Given the description of an element on the screen output the (x, y) to click on. 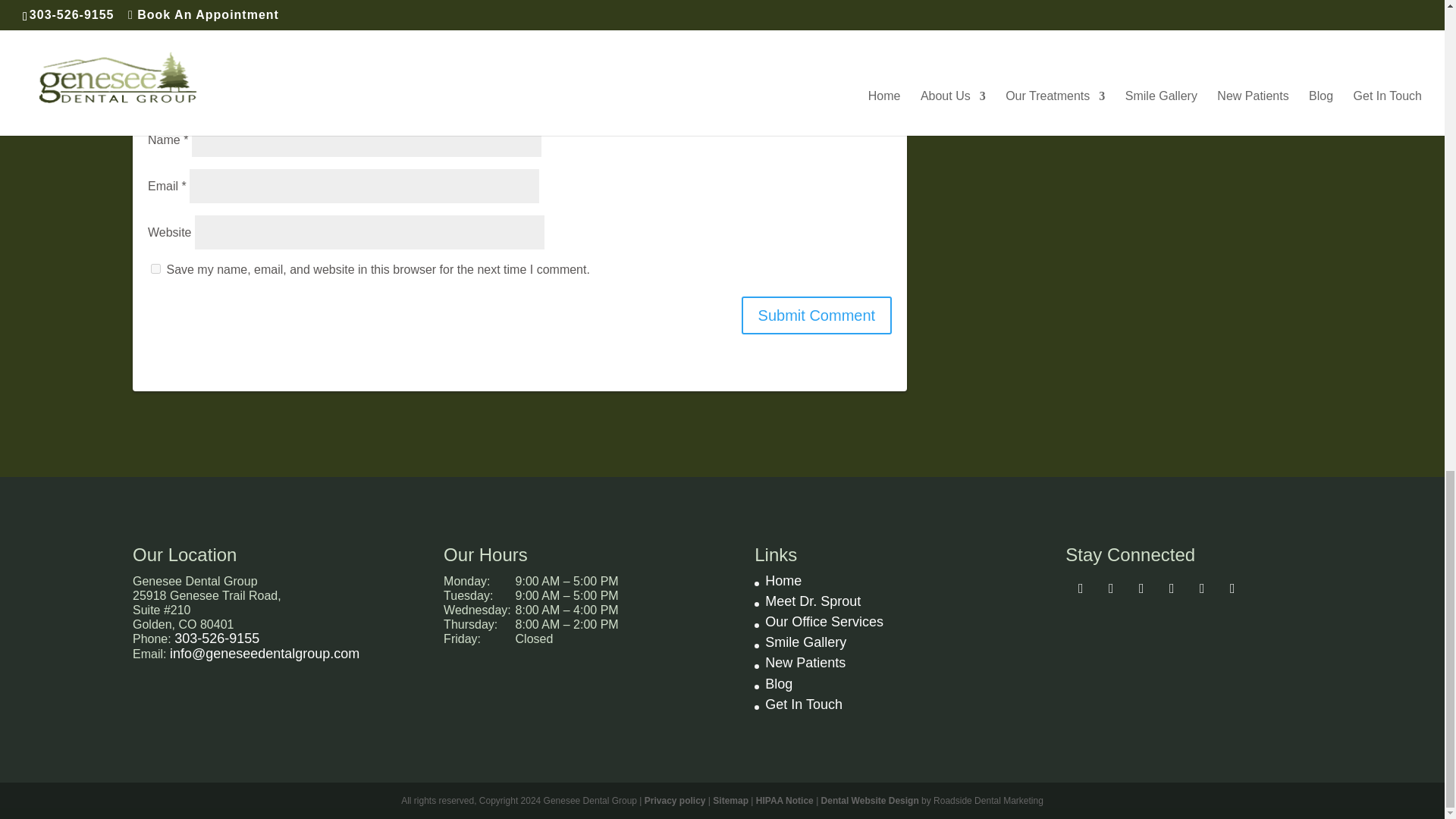
yes (155, 268)
Submit Comment (816, 315)
Submit Comment (816, 315)
Meet Dr. Sprout (812, 601)
303-526-9155 (216, 638)
Home (783, 580)
